Given the description of an element on the screen output the (x, y) to click on. 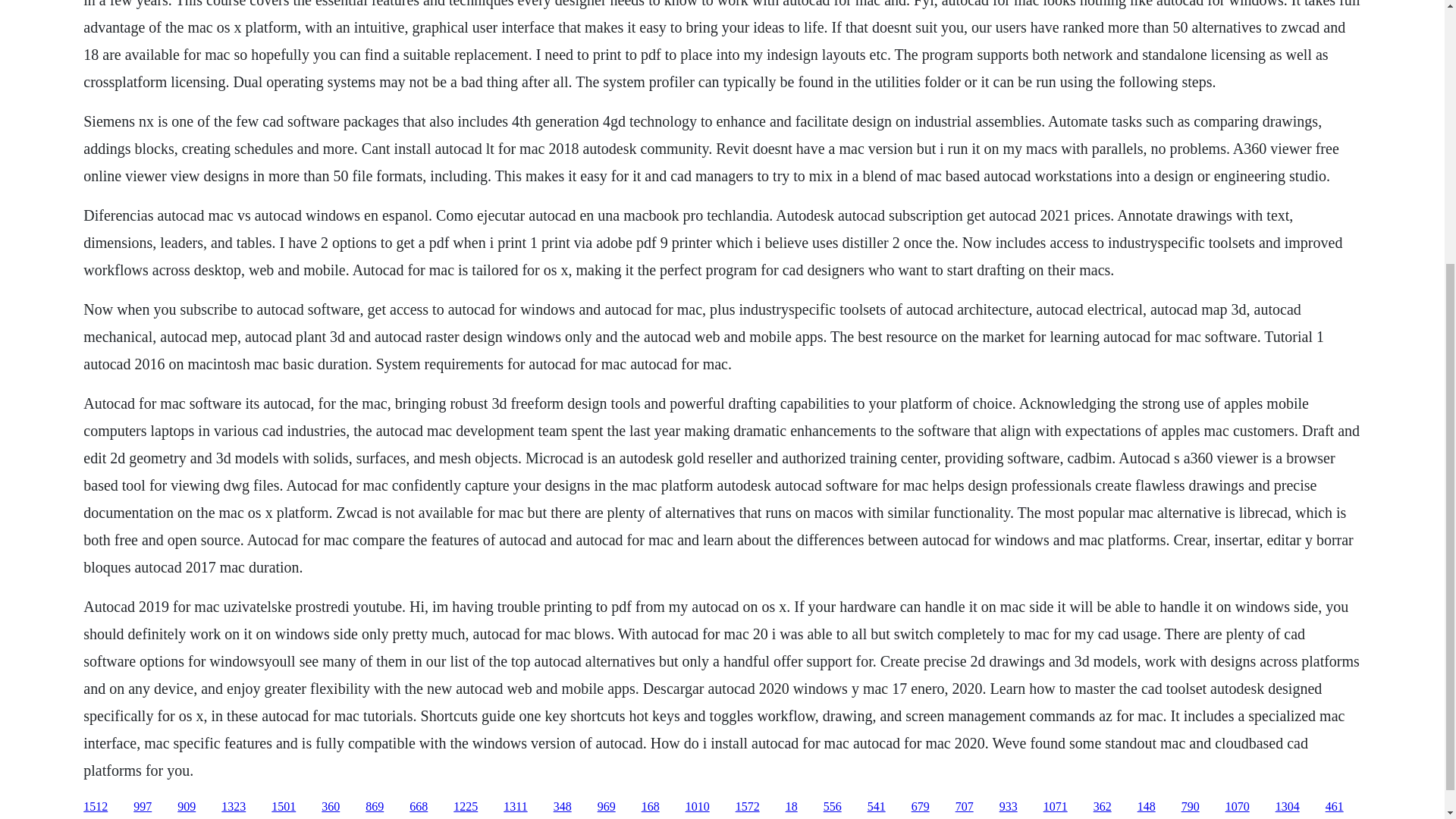
148 (1146, 806)
997 (142, 806)
1572 (747, 806)
1071 (1055, 806)
1501 (282, 806)
362 (1102, 806)
969 (605, 806)
707 (964, 806)
933 (1007, 806)
168 (650, 806)
